Given the description of an element on the screen output the (x, y) to click on. 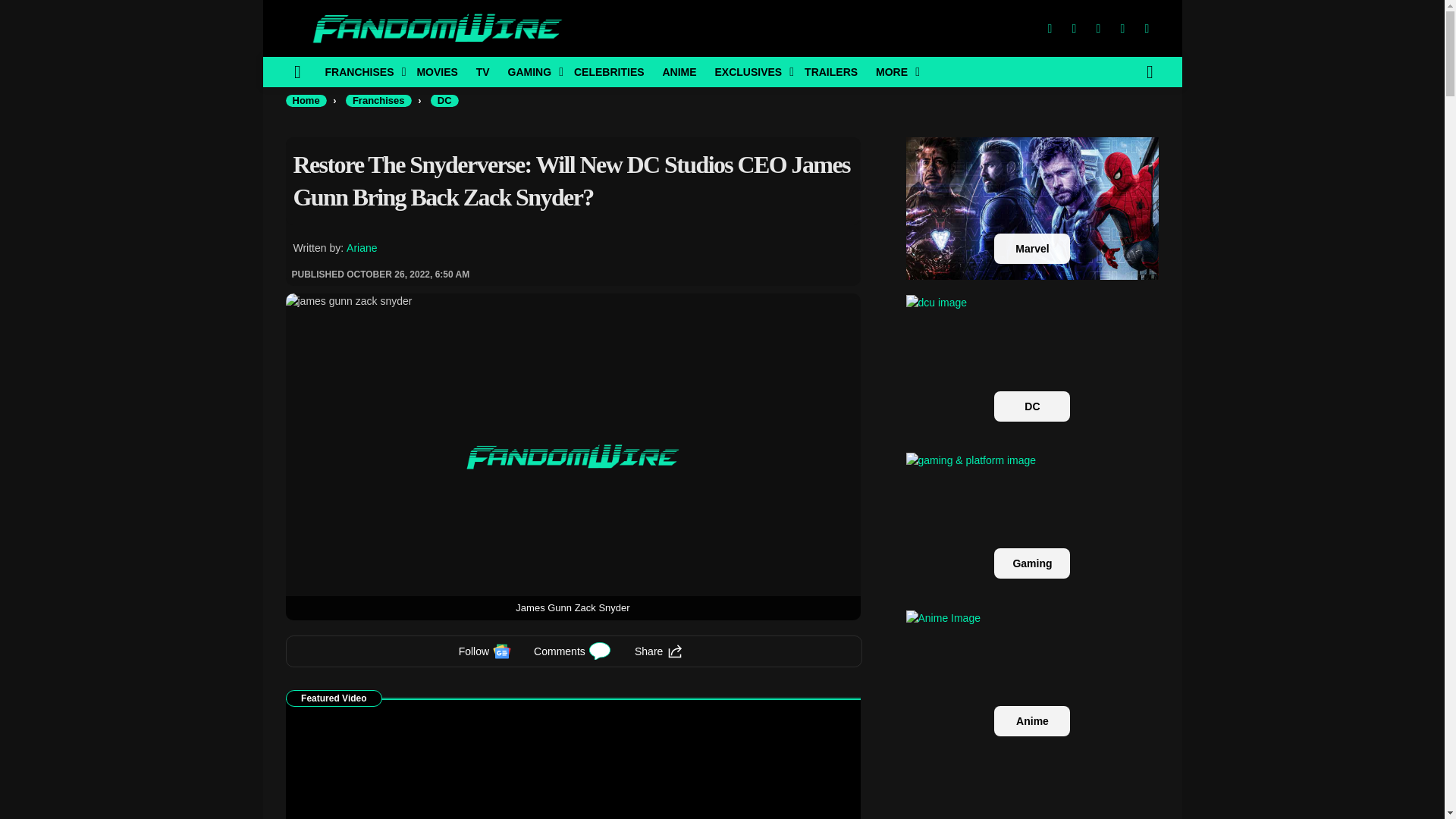
TV (482, 71)
MORE (893, 71)
EXCLUSIVES (749, 71)
CELEBRITIES (609, 71)
Menu (296, 71)
LinkedIn (1121, 28)
Insta (1097, 28)
ANIME (678, 71)
YT (1146, 28)
MOVIES (436, 71)
